Given the description of an element on the screen output the (x, y) to click on. 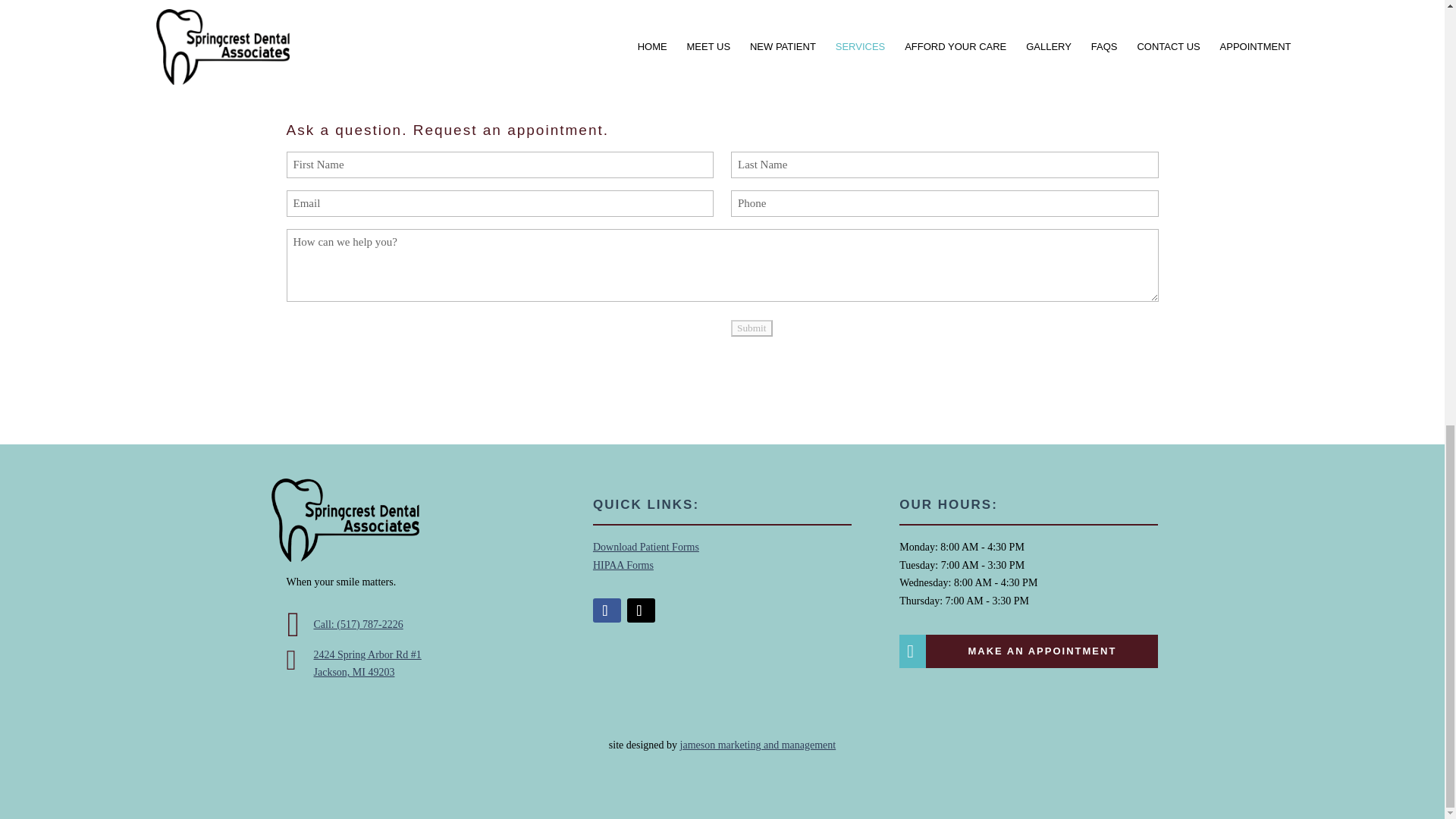
Follow on Facebook (606, 610)
Follow on Twitter (641, 610)
Submit (751, 328)
